Given the description of an element on the screen output the (x, y) to click on. 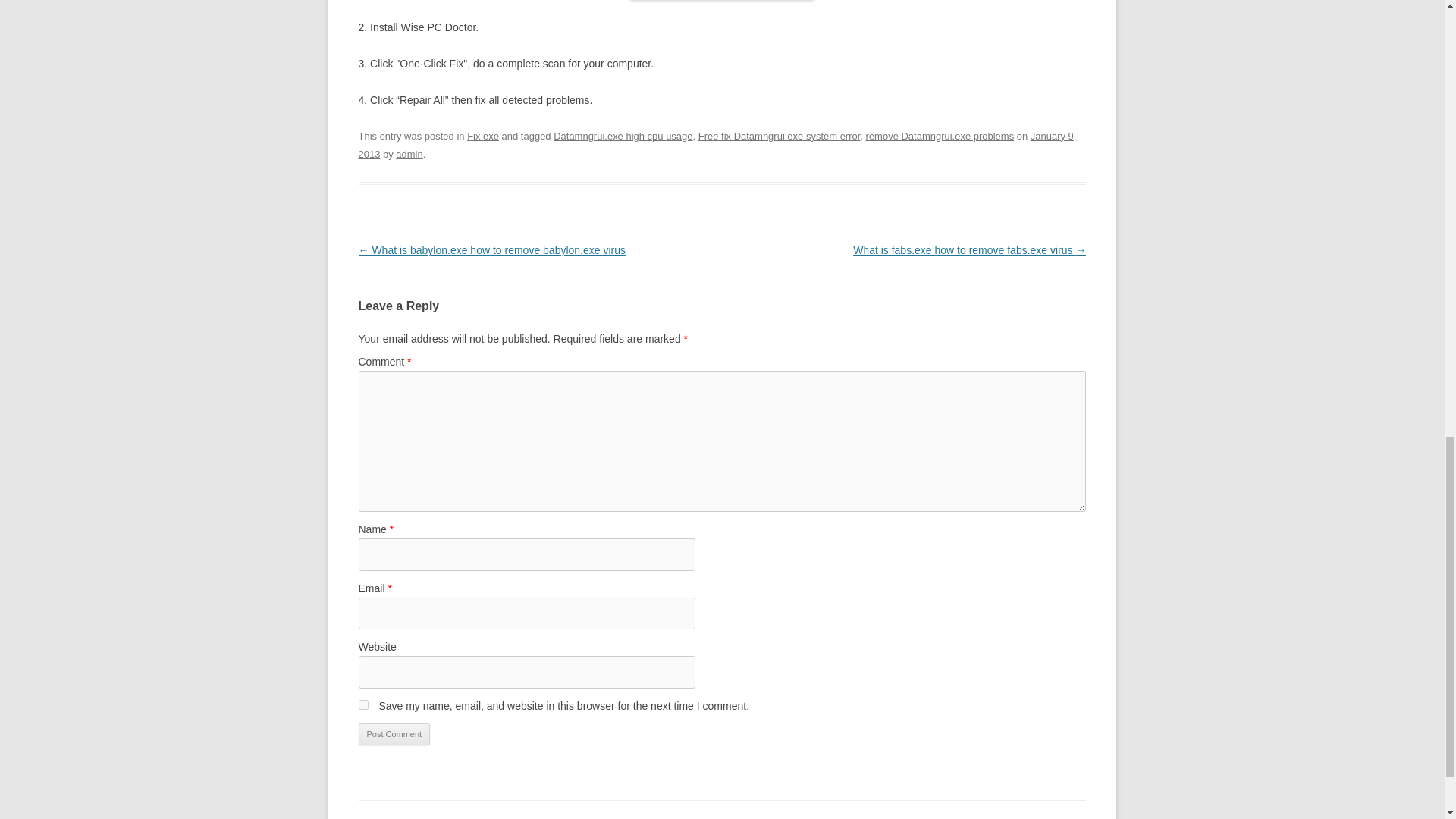
Free fix Datamngrui.exe system error (779, 135)
Post Comment (393, 734)
yes (363, 705)
View all posts by admin (409, 153)
admin (409, 153)
3:11 am (716, 144)
remove Datamngrui.exe problems (940, 135)
Post Comment (393, 734)
January 9, 2013 (716, 144)
Datamngrui.exe high cpu usage (623, 135)
